Given the description of an element on the screen output the (x, y) to click on. 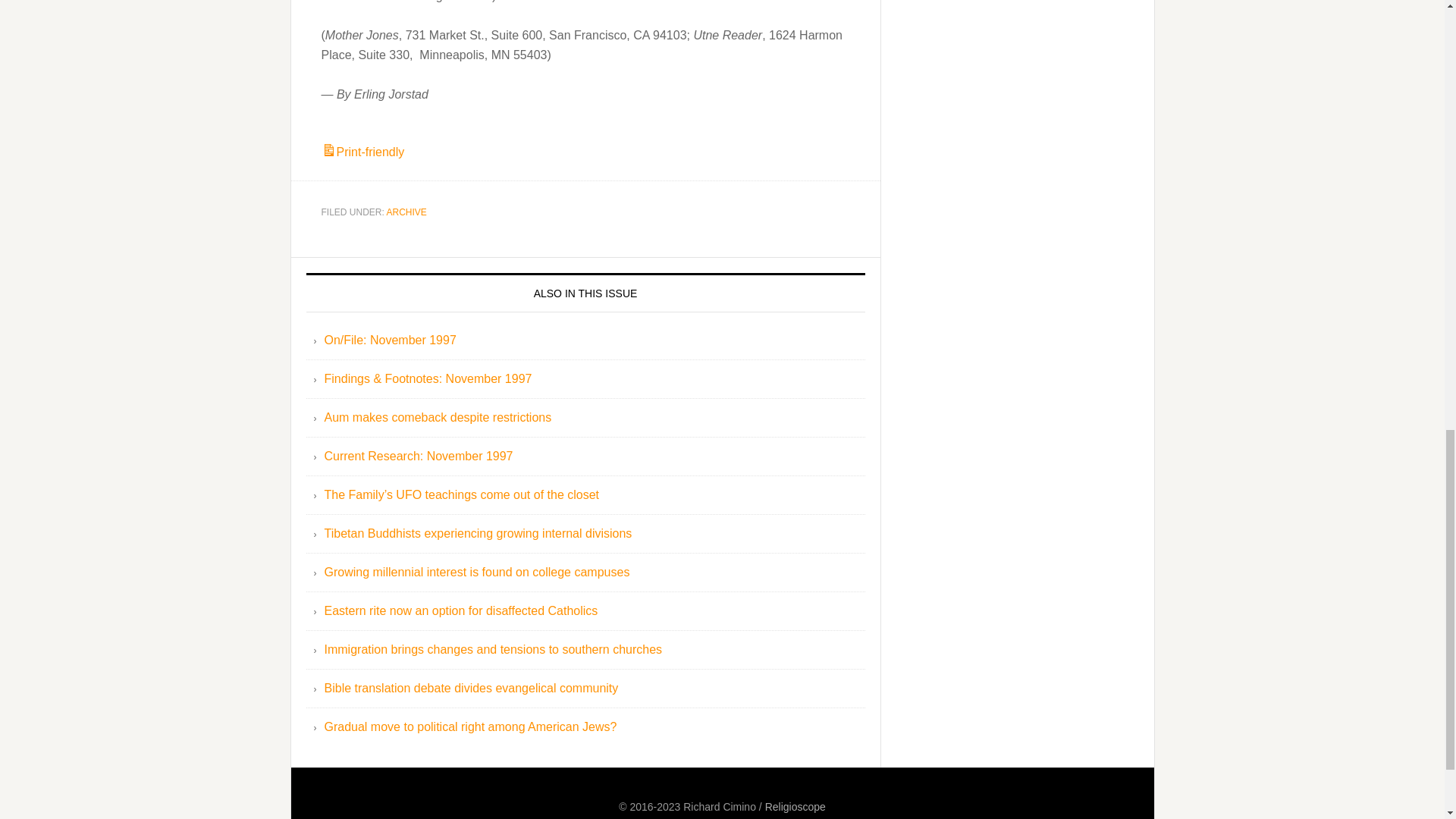
Gradual move to political right among American Jews? (470, 726)
Growing millennial interest is found on college campuses (477, 571)
Bible translation debate divides evangelical community (471, 687)
Tibetan Buddhists experiencing growing internal divisions (477, 533)
Eastern rite now an option for disaffected Catholics (461, 610)
Religioscope (795, 806)
ARCHIVE (406, 212)
Current Research: November 1997 (418, 455)
Immigration brings changes and tensions to southern churches (493, 649)
Print-friendly (362, 151)
Aum makes comeback despite restrictions (437, 417)
